Given the description of an element on the screen output the (x, y) to click on. 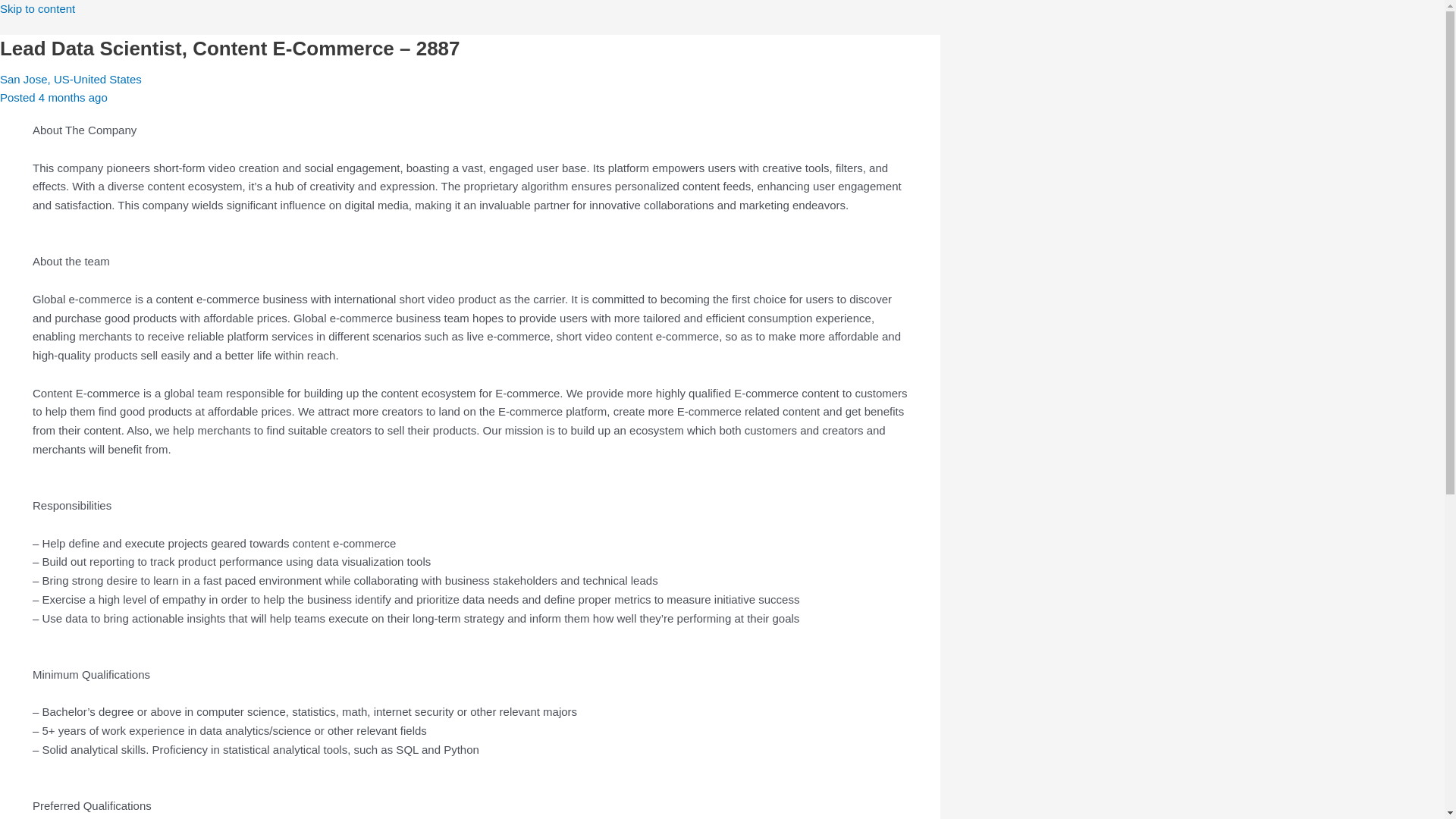
Skip to content (37, 8)
Skip to content (37, 8)
